Given the description of an element on the screen output the (x, y) to click on. 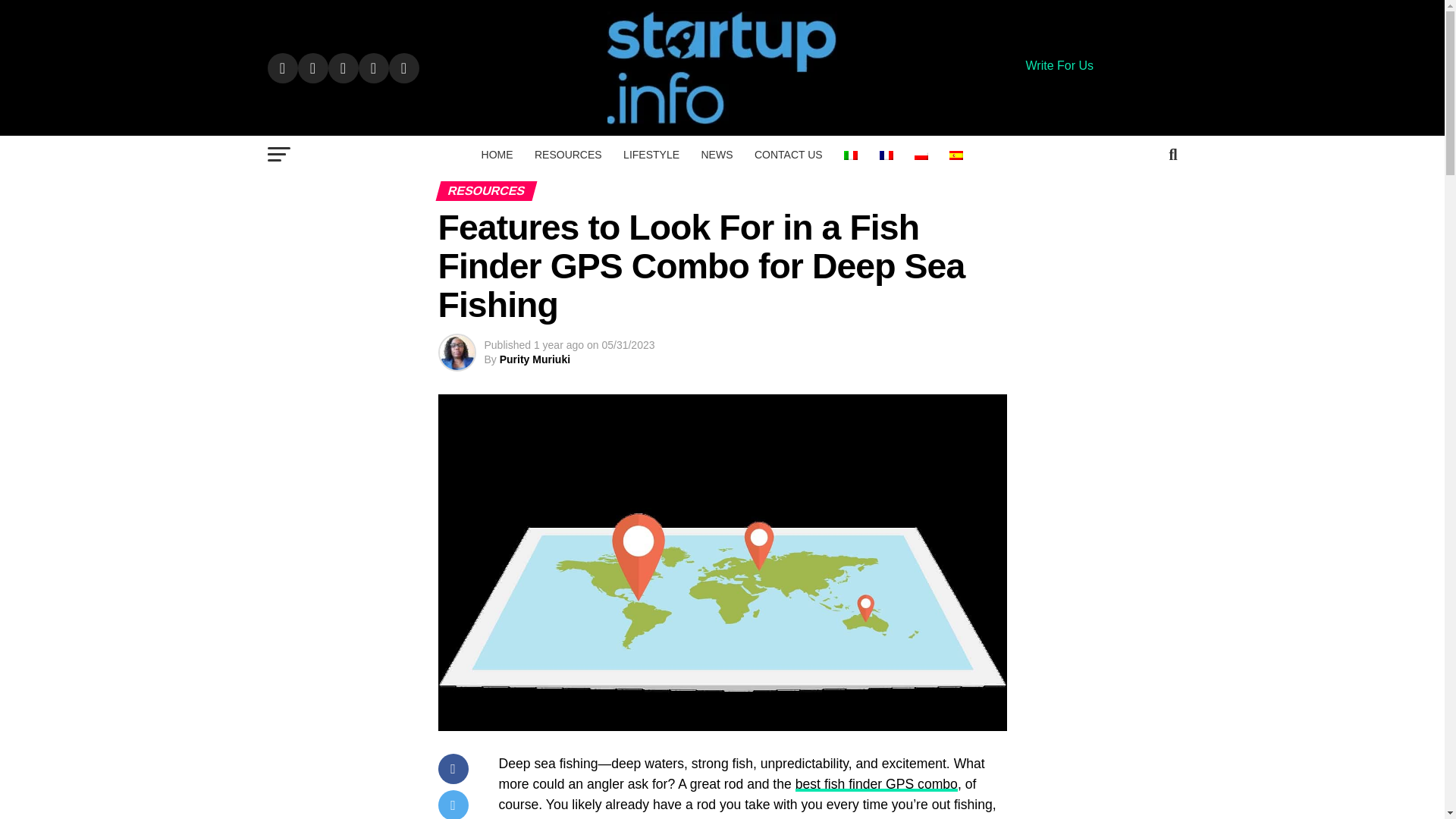
NEWS (716, 154)
LIFESTYLE (651, 154)
RESOURCES (568, 154)
Write For Us (1059, 65)
HOME (496, 154)
